Given the description of an element on the screen output the (x, y) to click on. 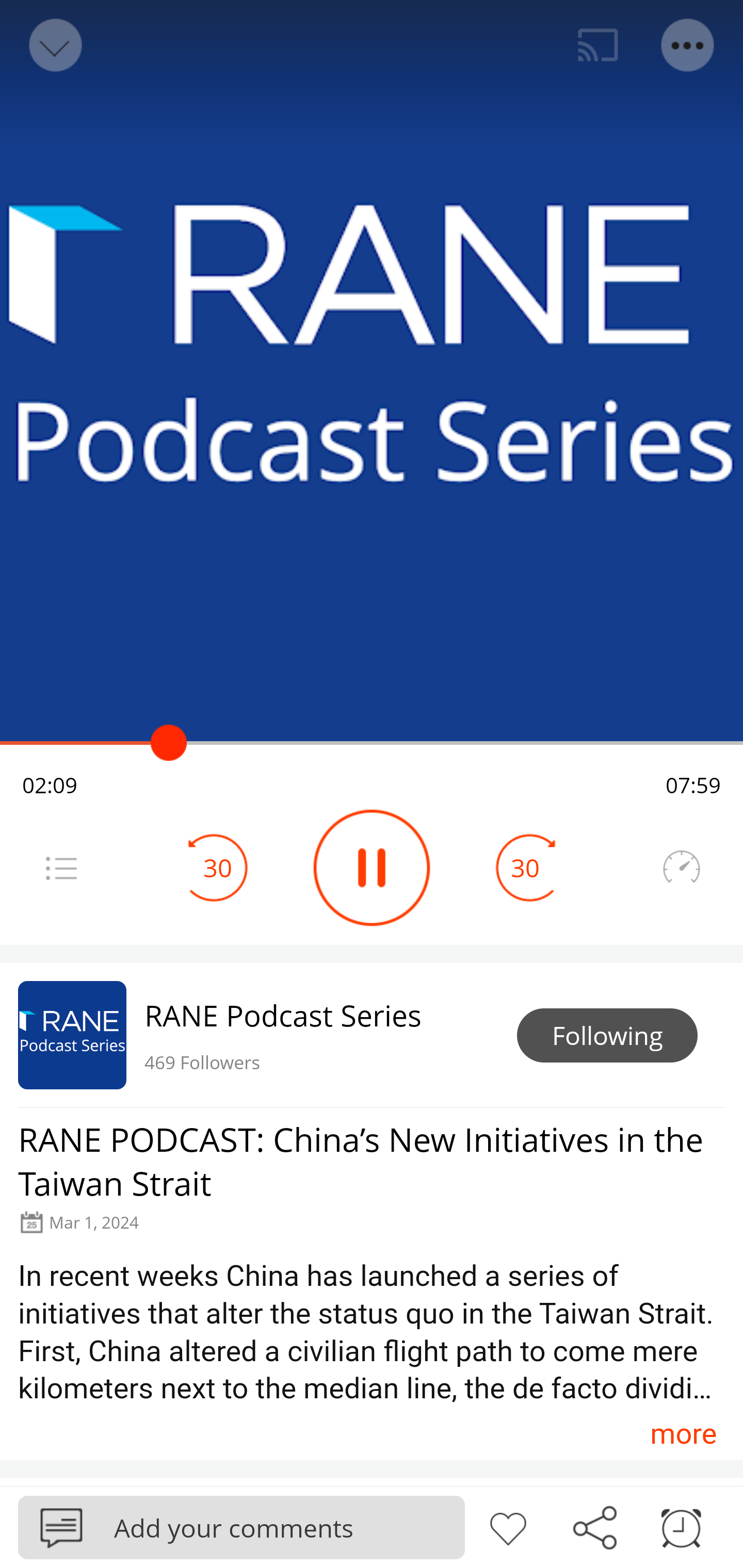
Back (53, 45)
Cast. Disconnected (597, 45)
Menu (688, 45)
Play (371, 867)
30 Seek Backward (217, 867)
30 Seek Forward (525, 867)
Menu (60, 867)
Speedometer (681, 867)
RANE Podcast Series 469 Followers Following (371, 1034)
Following (607, 1035)
more (682, 1432)
Like (508, 1526)
Share (594, 1526)
Sleep timer (681, 1526)
Podbean Add your comments (241, 1526)
